Given the description of an element on the screen output the (x, y) to click on. 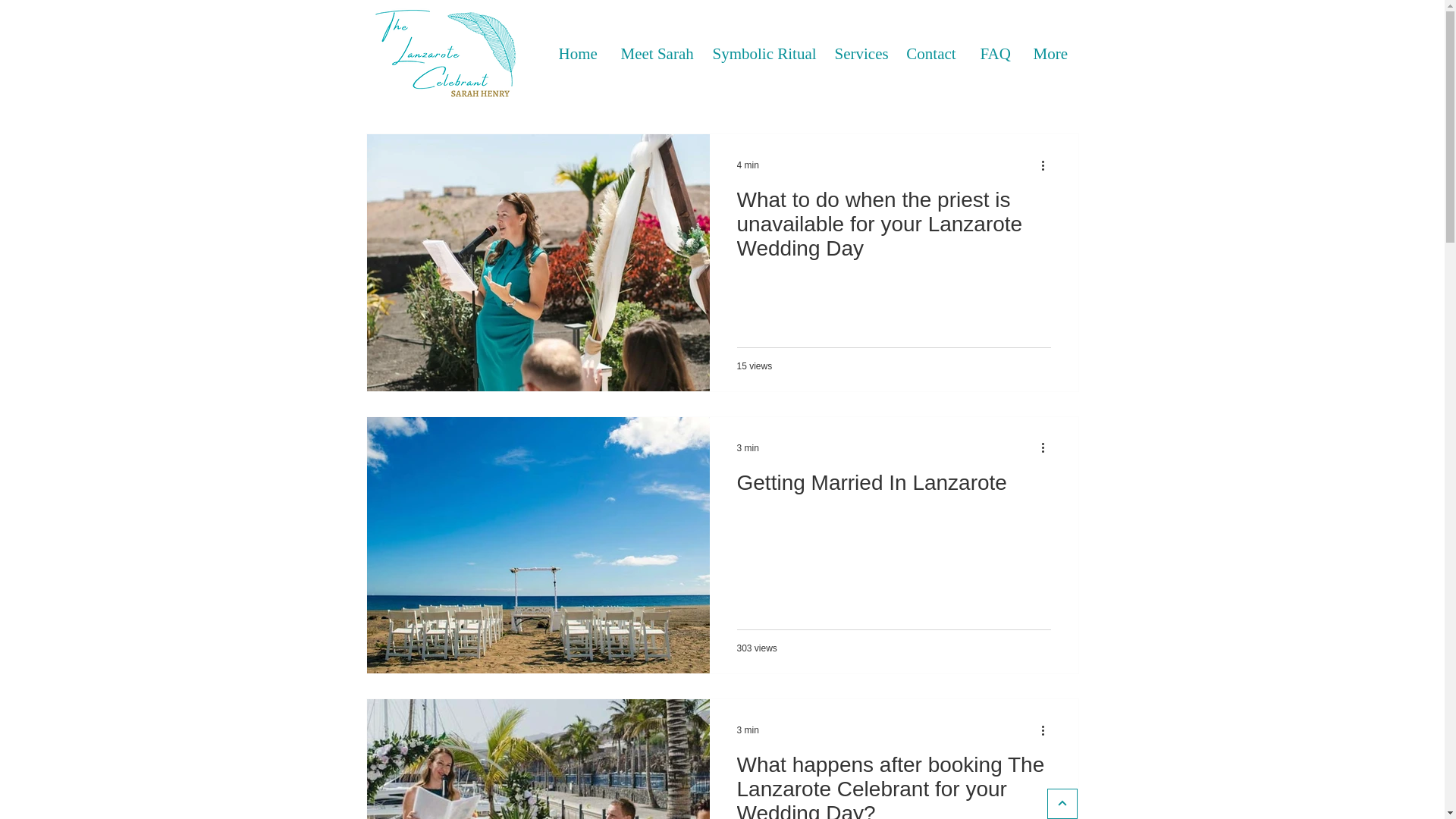
Services (857, 53)
3 min (747, 729)
Getting Married In Lanzarote (893, 487)
Contact (930, 53)
Meet Sarah (654, 53)
3 min (747, 448)
Symbolic Ritual (761, 53)
Home (577, 53)
4 min (747, 164)
